Given the description of an element on the screen output the (x, y) to click on. 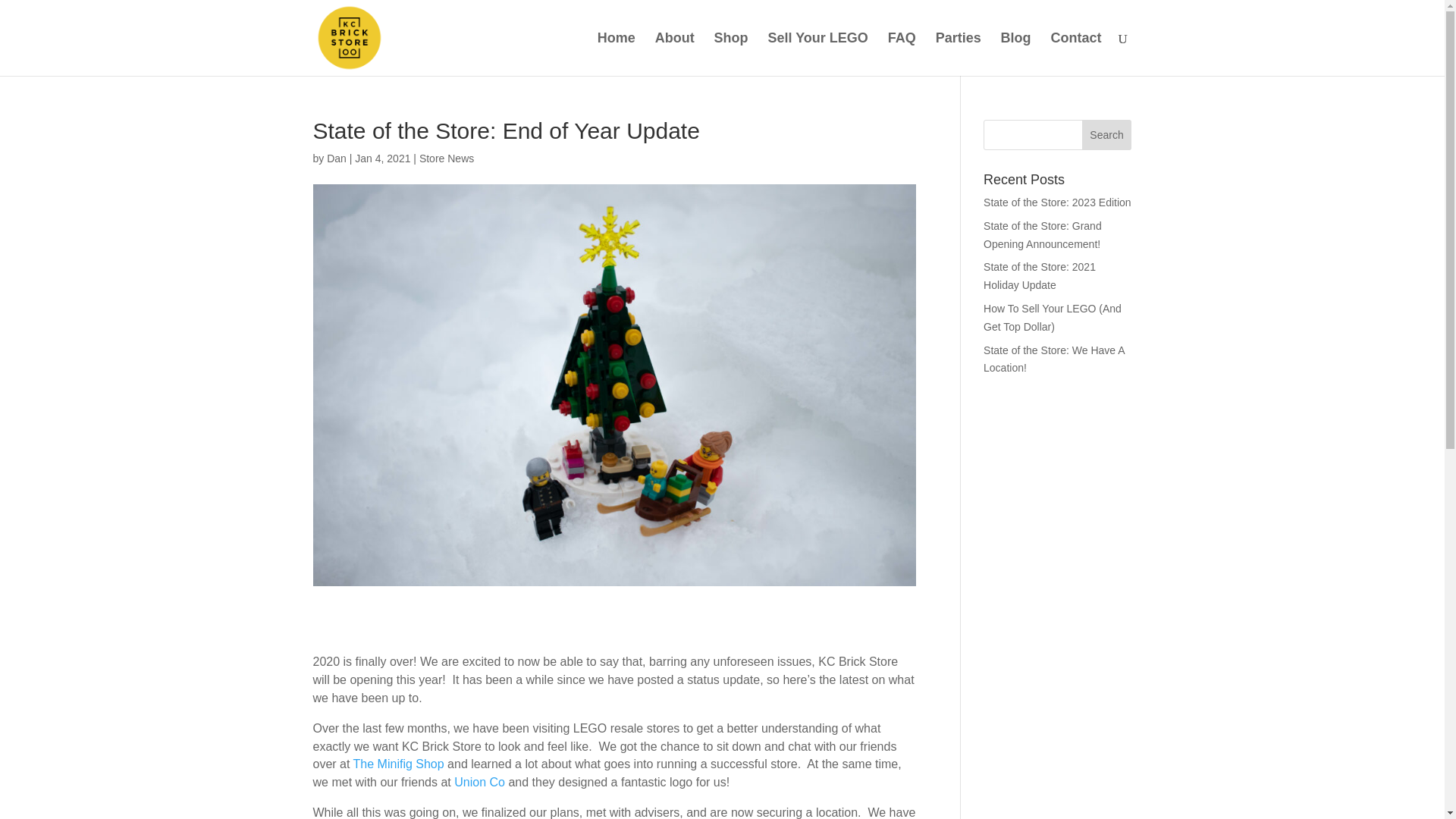
Sell Your LEGO (817, 54)
Contact (1076, 54)
State of the Store: We Have A Location! (1054, 358)
About (674, 54)
Union Co (479, 781)
State of the Store: 2021 Holiday Update (1040, 276)
State of the Store: Grand Opening Announcement! (1043, 235)
Parties (958, 54)
Search (1106, 134)
Posts by Dan (336, 158)
